Given the description of an element on the screen output the (x, y) to click on. 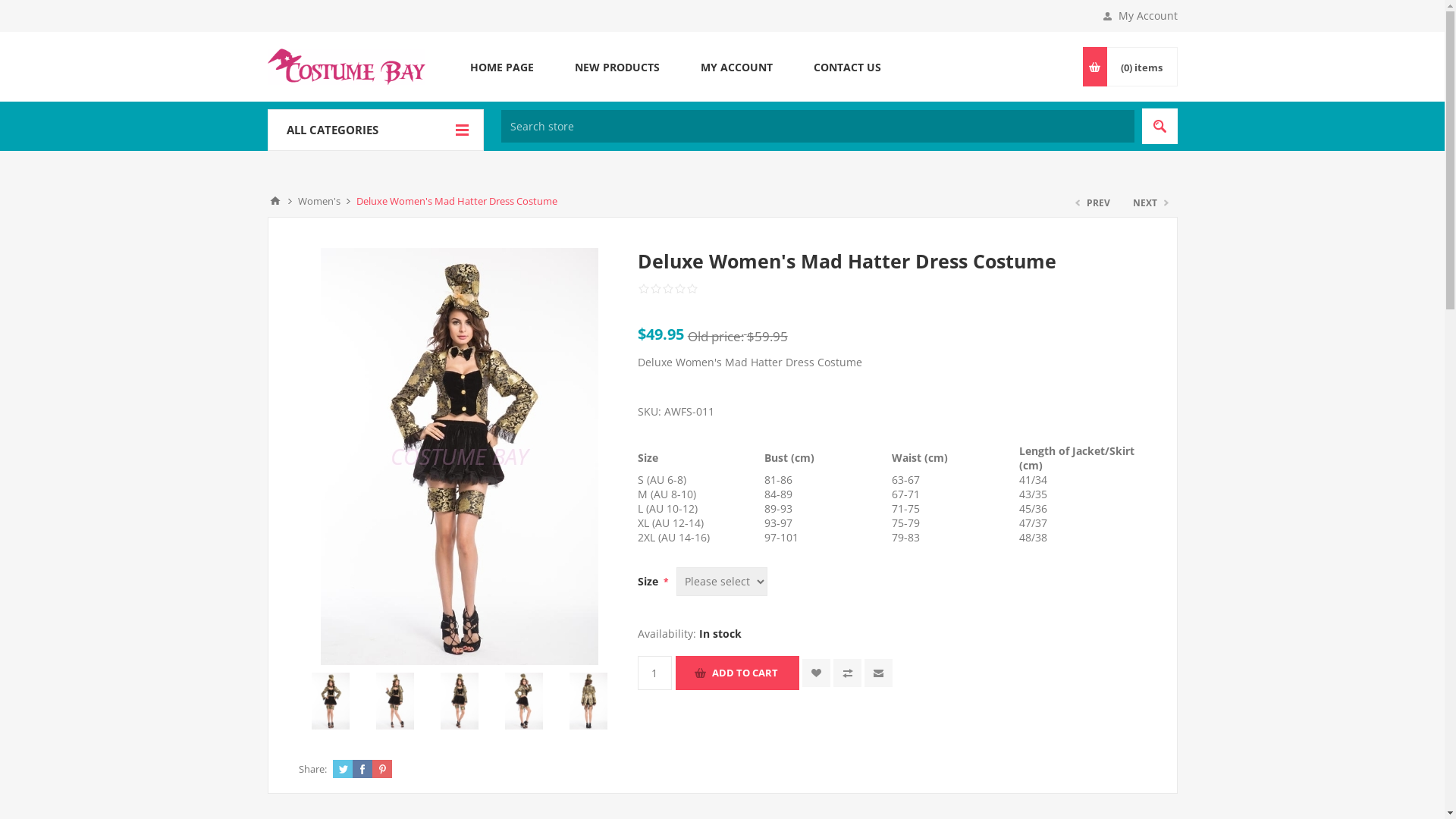
HOME PAGE Element type: text (500, 67)
NEW PRODUCTS Element type: text (616, 67)
CONTACT US Element type: text (847, 67)
PREV Element type: text (1093, 202)
Add to compare list Element type: text (847, 672)
MY ACCOUNT Element type: text (735, 67)
ADD TO CART Element type: text (737, 672)
Add to wishlist Element type: text (816, 672)
Women's Element type: text (318, 200)
NEXT Element type: text (1148, 202)
(0) items Element type: text (1140, 66)
Email a friend Element type: text (878, 672)
Home Element type: text (274, 200)
Search Element type: text (1159, 126)
